Given the description of an element on the screen output the (x, y) to click on. 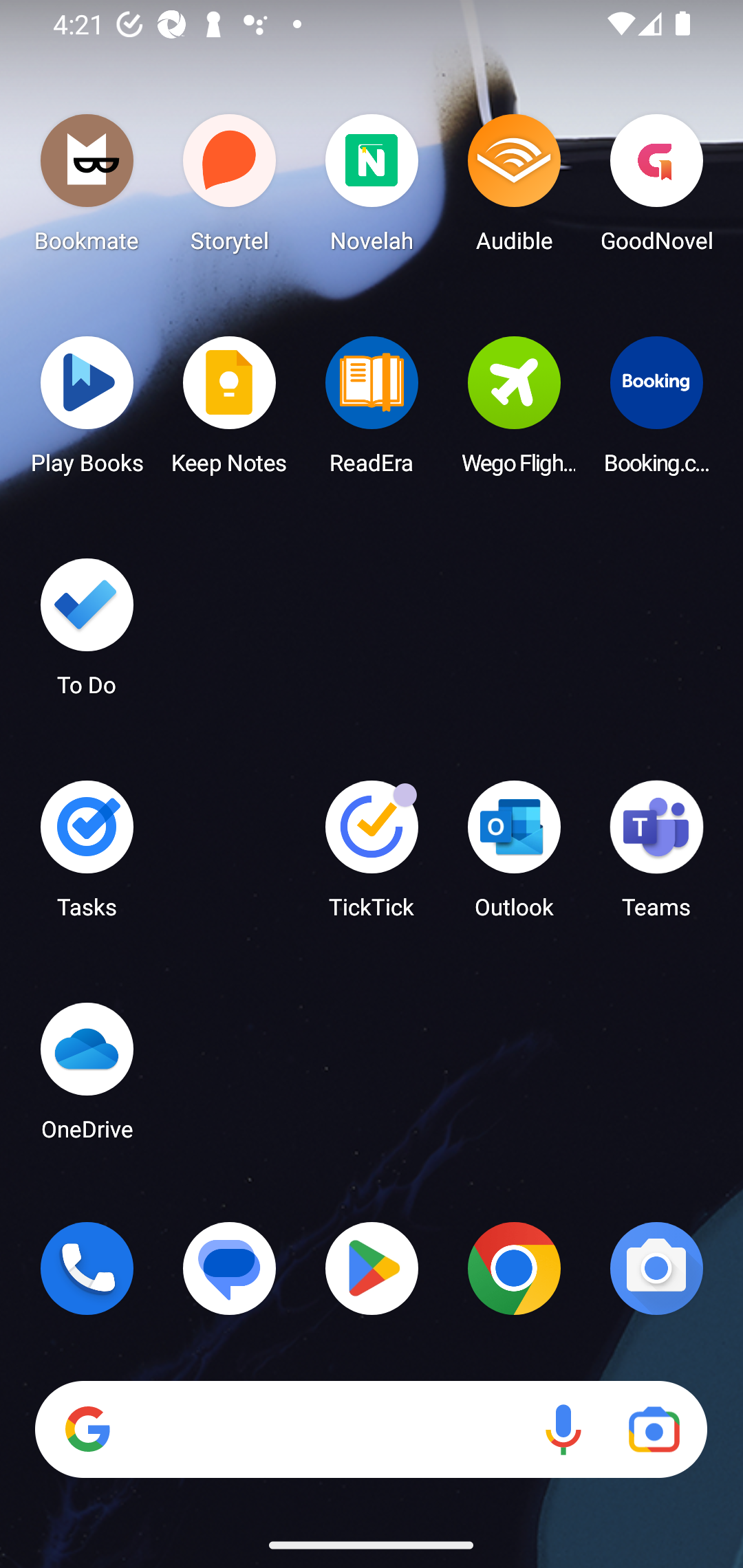
Bookmate (86, 188)
Storytel (229, 188)
Novelah (371, 188)
Audible (513, 188)
GoodNovel (656, 188)
Play Books (86, 410)
Keep Notes (229, 410)
ReadEra (371, 410)
Wego Flights & Hotels (513, 410)
Booking.com (656, 410)
To Do (86, 633)
Tasks (86, 854)
TickTick TickTick has 3 notifications (371, 854)
Outlook (513, 854)
Teams (656, 854)
OneDrive (86, 1076)
Phone (86, 1268)
Messages (229, 1268)
Play Store (371, 1268)
Chrome (513, 1268)
Camera (656, 1268)
Voice search (562, 1429)
Google Lens (653, 1429)
